Given the description of an element on the screen output the (x, y) to click on. 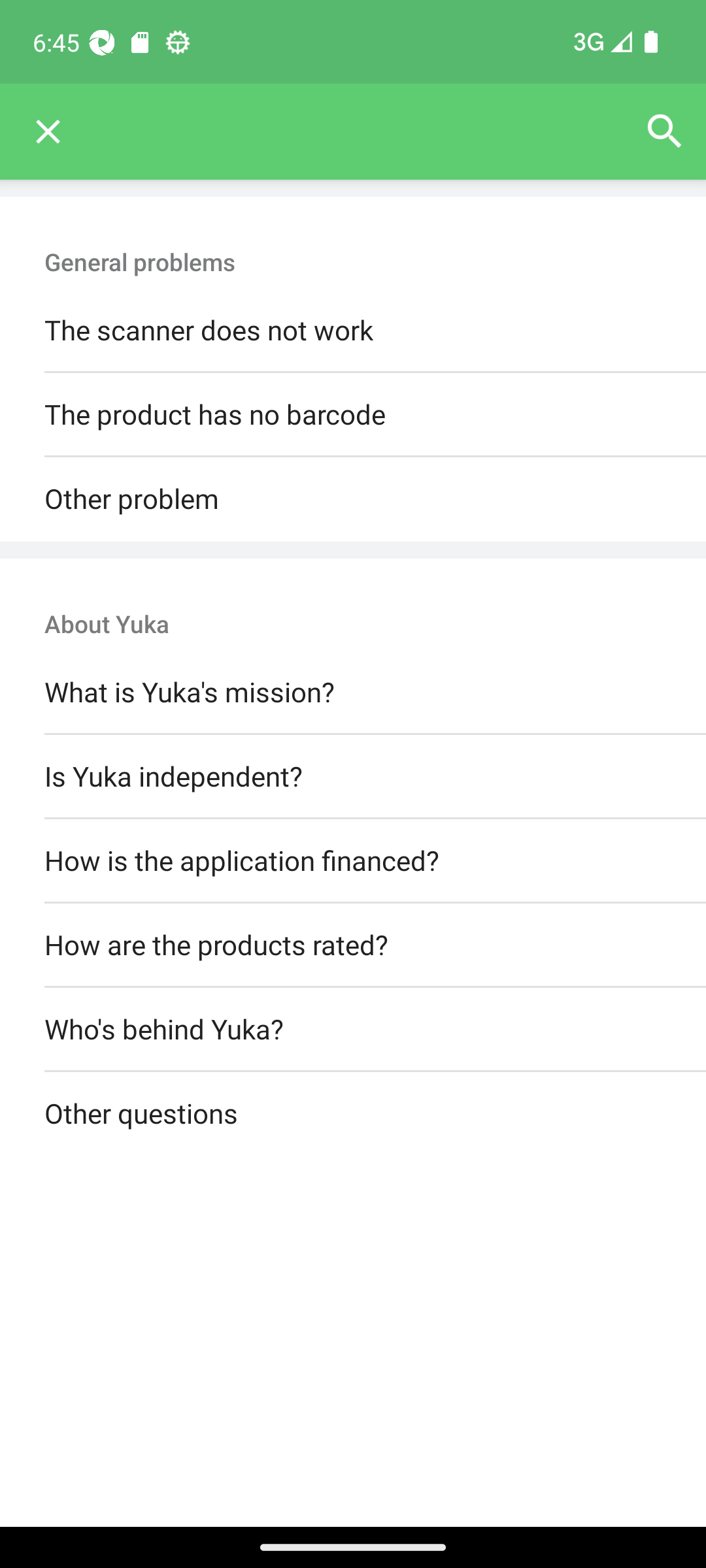
Search (664, 131)
The scanner does not work (353, 330)
The product has no barcode (353, 415)
Other problem (353, 498)
What is Yuka's mission? (353, 692)
Is Yuka independent? (353, 776)
How is the application financed? (353, 860)
How are the products rated? (353, 945)
Who's behind Yuka? (353, 1029)
Other questions (353, 1114)
